Given the description of an element on the screen output the (x, y) to click on. 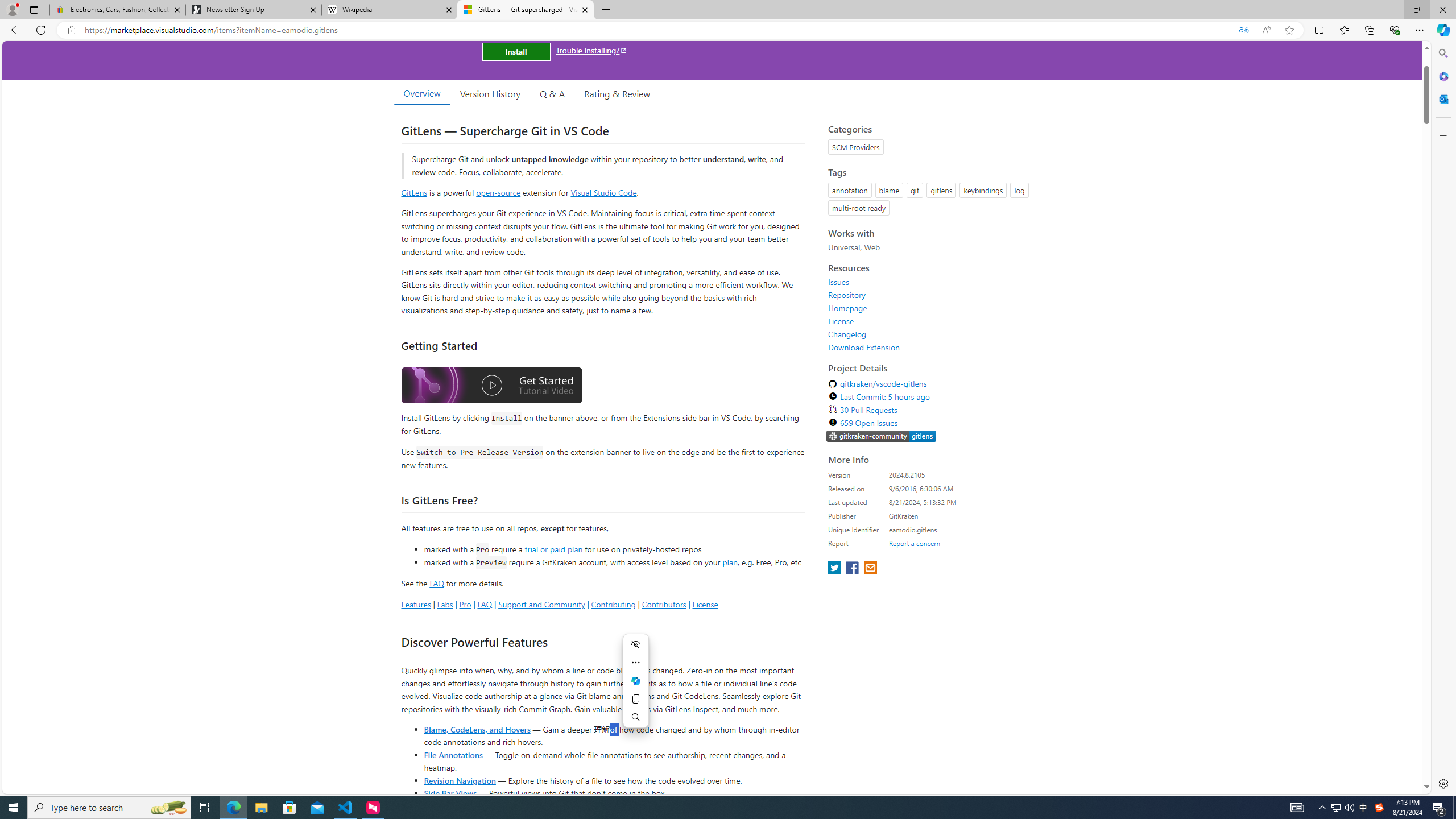
License (931, 320)
https://slack.gitkraken.com// (881, 436)
Q & A (552, 92)
Repository (931, 294)
FAQ (484, 603)
https://slack.gitkraken.com// (881, 436)
